Given the description of an element on the screen output the (x, y) to click on. 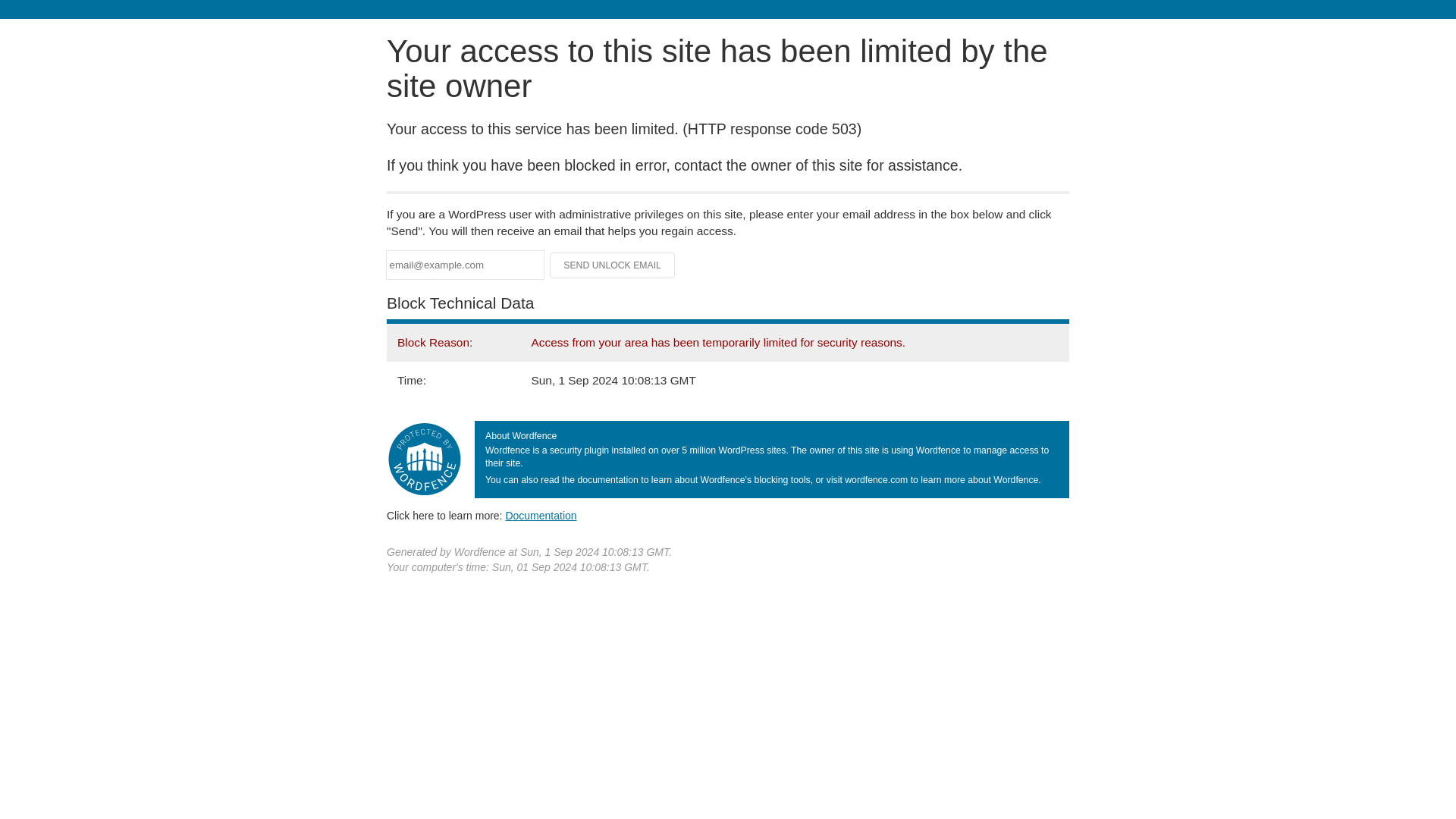
Send Unlock Email (612, 265)
Send Unlock Email (612, 265)
Documentation (540, 515)
